Given the description of an element on the screen output the (x, y) to click on. 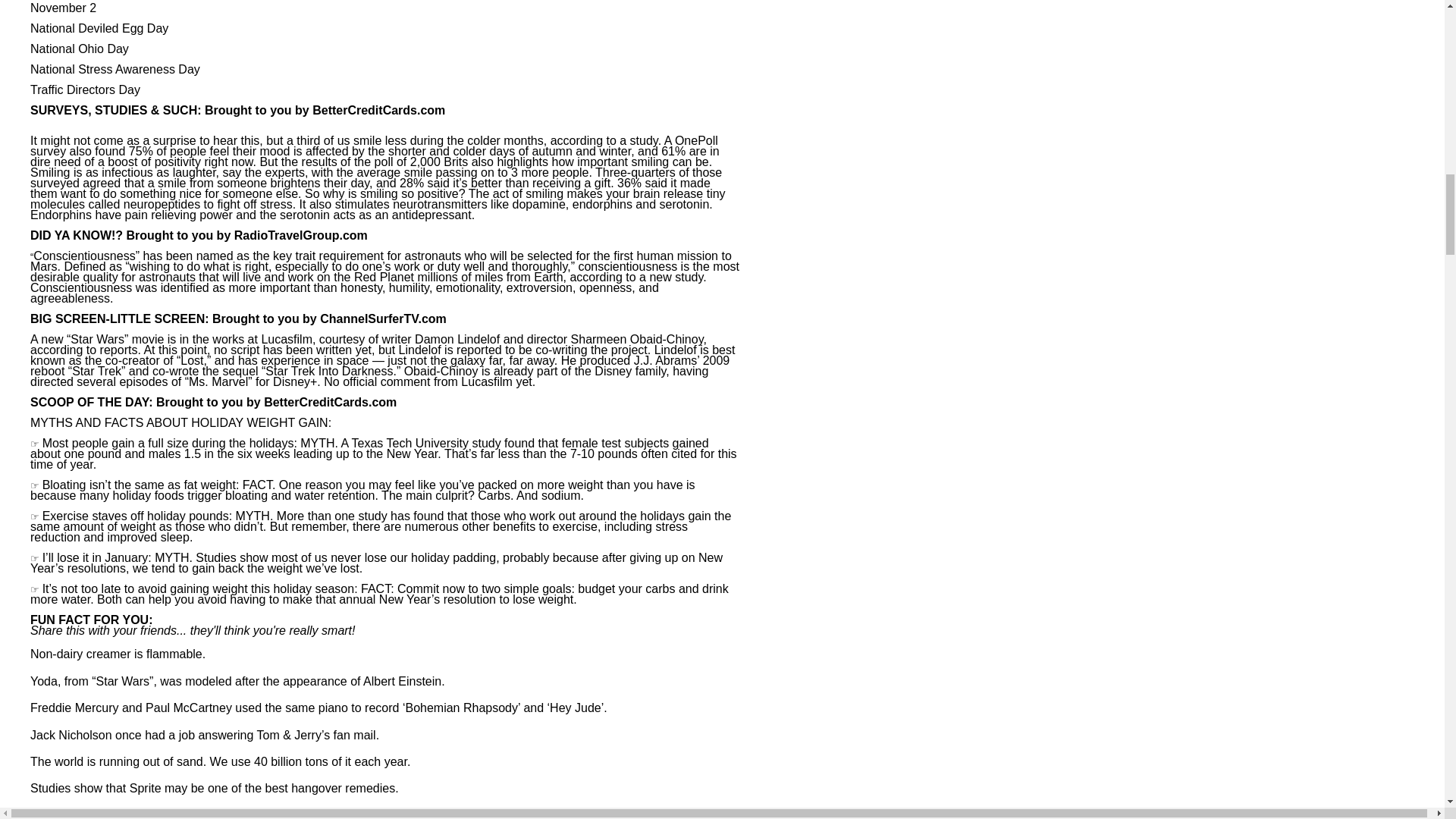
ChannelSurferTV.com (383, 319)
BetterCreditCards.com (329, 402)
RadioTravelGroup.com (301, 235)
BetterCreditCards.com (379, 111)
